Given the description of an element on the screen output the (x, y) to click on. 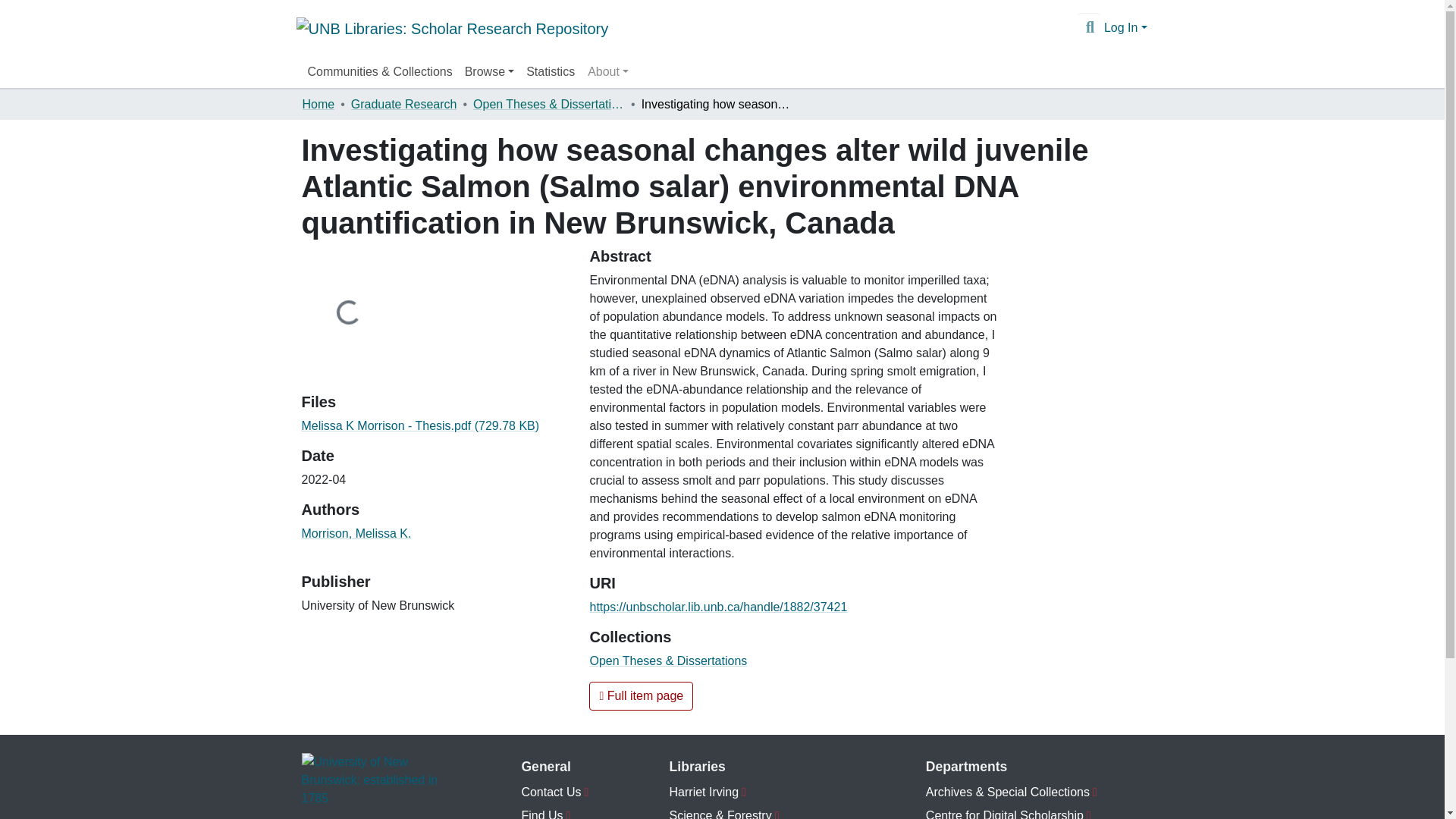
Log In (1125, 27)
Morrison, Melissa K. (356, 532)
Search (1089, 27)
Home (317, 104)
Full item page (641, 695)
About (607, 71)
Graduate Research (403, 104)
Statistics (549, 71)
Statistics (549, 71)
Centre for Digital Scholarship (1034, 811)
Find Us (560, 811)
Contact Us (560, 792)
Browse (488, 71)
Harriet Irving (763, 792)
